Given the description of an element on the screen output the (x, y) to click on. 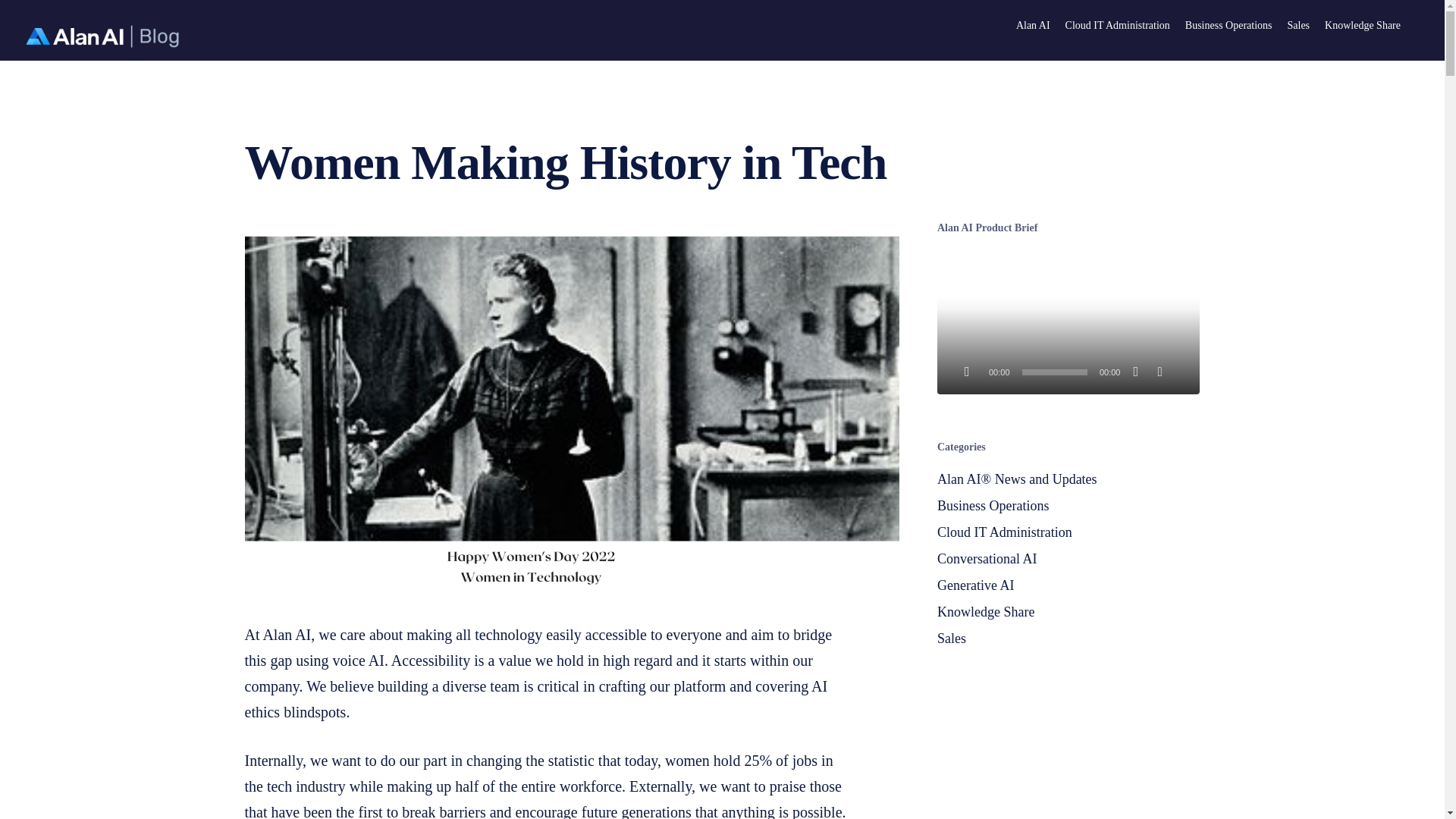
Business Operations (1068, 506)
Alan AI (1032, 25)
Sales (1298, 25)
Cloud IT Administration (1117, 25)
Business Operations (1228, 25)
Knowledge Share (1362, 25)
Cloud IT Administration (1068, 532)
